Given the description of an element on the screen output the (x, y) to click on. 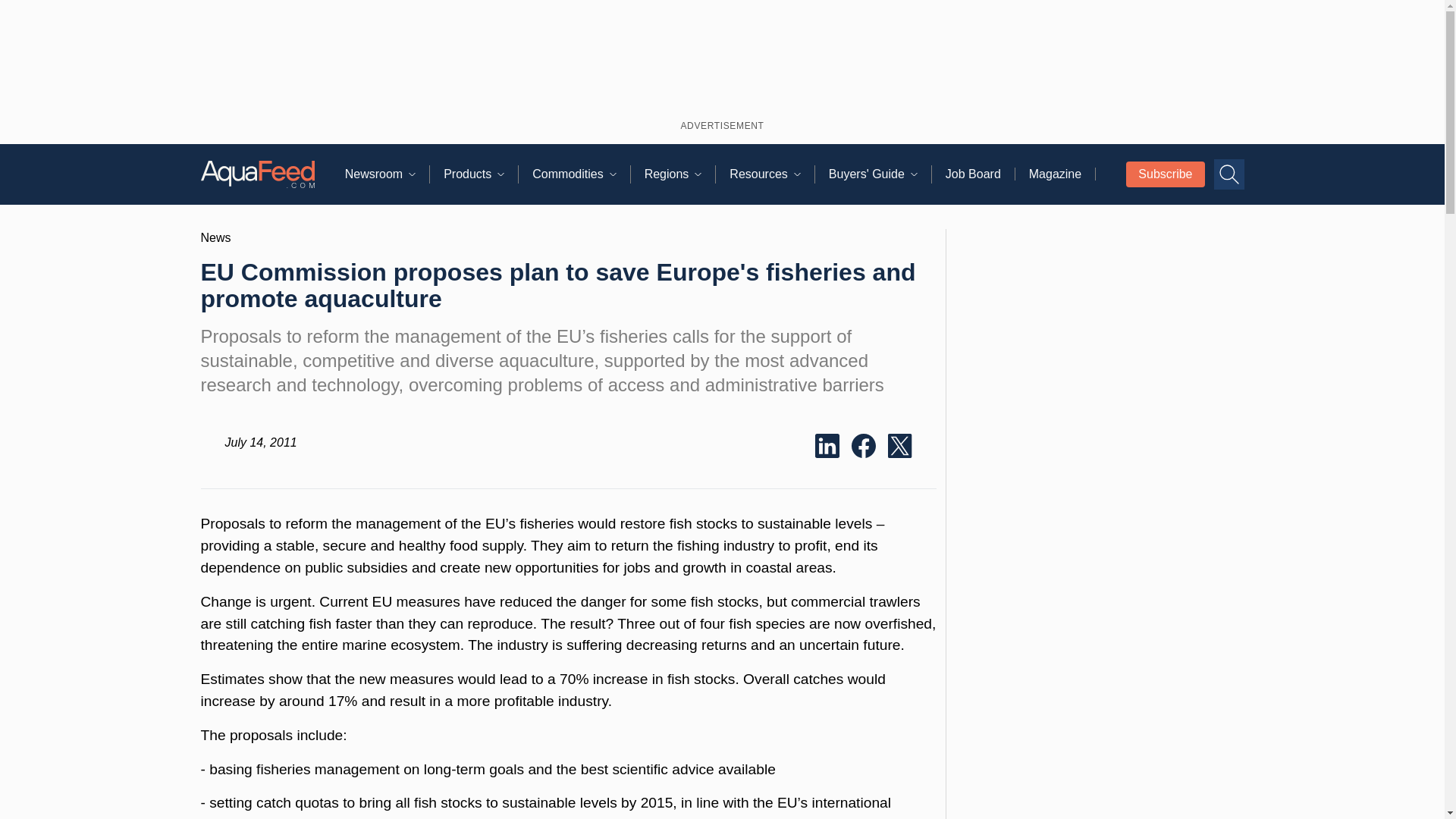
Newsroom (387, 174)
3rd party ad content (1100, 508)
Commodities (581, 174)
Resources (771, 174)
3rd party ad content (722, 56)
Regions (680, 174)
Products (481, 174)
Buyers' Guide (879, 174)
3rd party ad content (1098, 743)
